Given the description of an element on the screen output the (x, y) to click on. 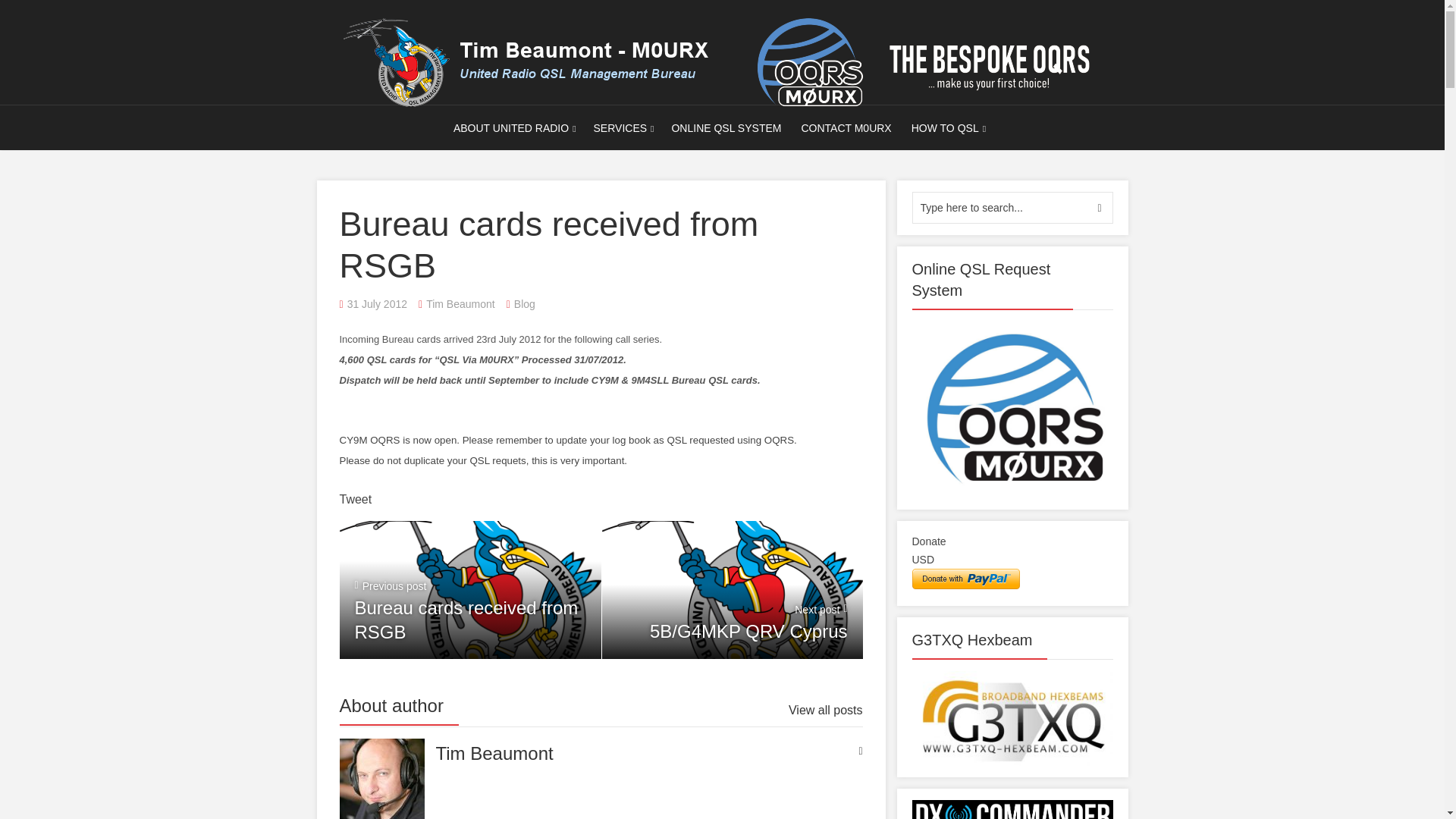
Type here to search... (1011, 207)
M0URX (721, 60)
G3TXQ Hexbeam (1011, 717)
Online QSL Request System (1011, 409)
ABOUT UNITED RADIO (510, 127)
SERVICES (620, 127)
Type here to search... (1011, 207)
